Given the description of an element on the screen output the (x, y) to click on. 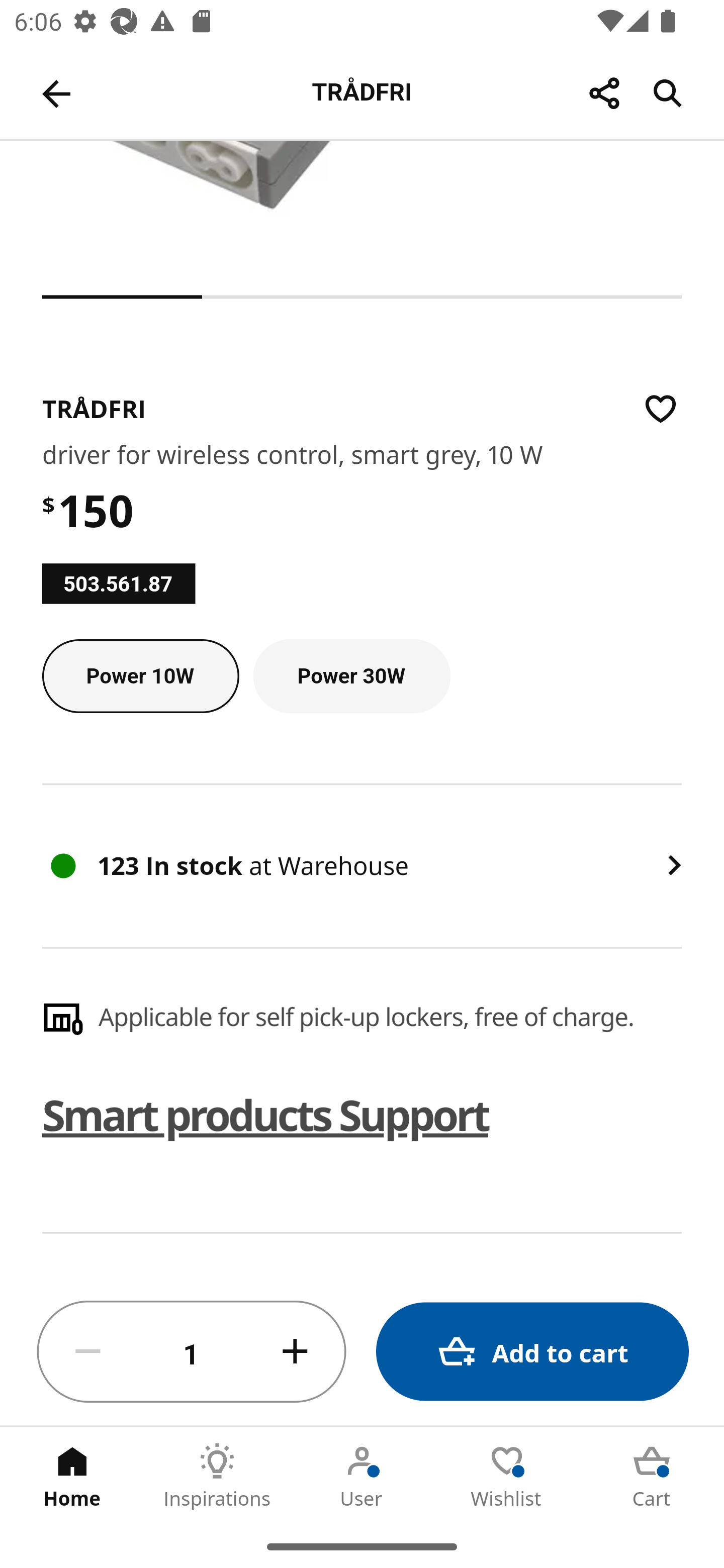
Power 10W (140, 676)
Power 30W (351, 676)
123 In stock at Warehouse (361, 866)
Smart products Support (265, 1114)
Add to cart (531, 1352)
1 (191, 1352)
Home
Tab 1 of 5 (72, 1476)
Inspirations
Tab 2 of 5 (216, 1476)
User
Tab 3 of 5 (361, 1476)
Wishlist
Tab 4 of 5 (506, 1476)
Cart
Tab 5 of 5 (651, 1476)
